Given the description of an element on the screen output the (x, y) to click on. 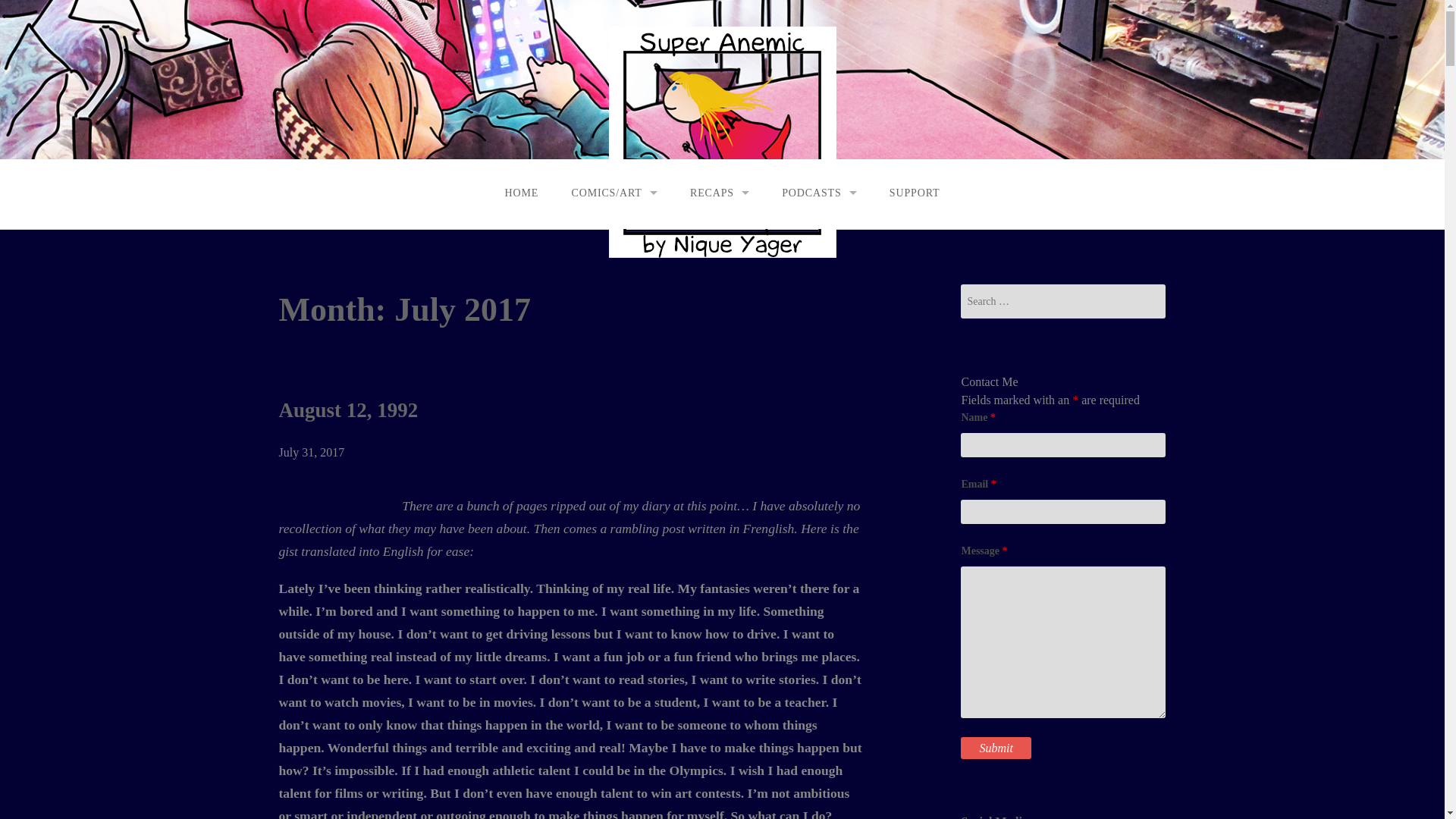
STAR TREK: DISCOVERY (719, 337)
PORTRAITS (496, 270)
COLOUR THEORY (496, 304)
STAR TREK: THE ANIMATED SERIES (719, 269)
HOME (520, 192)
TOS SEASON TWO (628, 269)
TNG SEASON ONE (628, 304)
RECAPS (718, 192)
TNG SEASON TWO (628, 338)
Submit (995, 748)
ART (614, 269)
COMICS (614, 235)
TNG SEASON FOUR (628, 406)
TOS SEASON THREE (628, 303)
TOS SEASON ONE (628, 235)
